Given the description of an element on the screen output the (x, y) to click on. 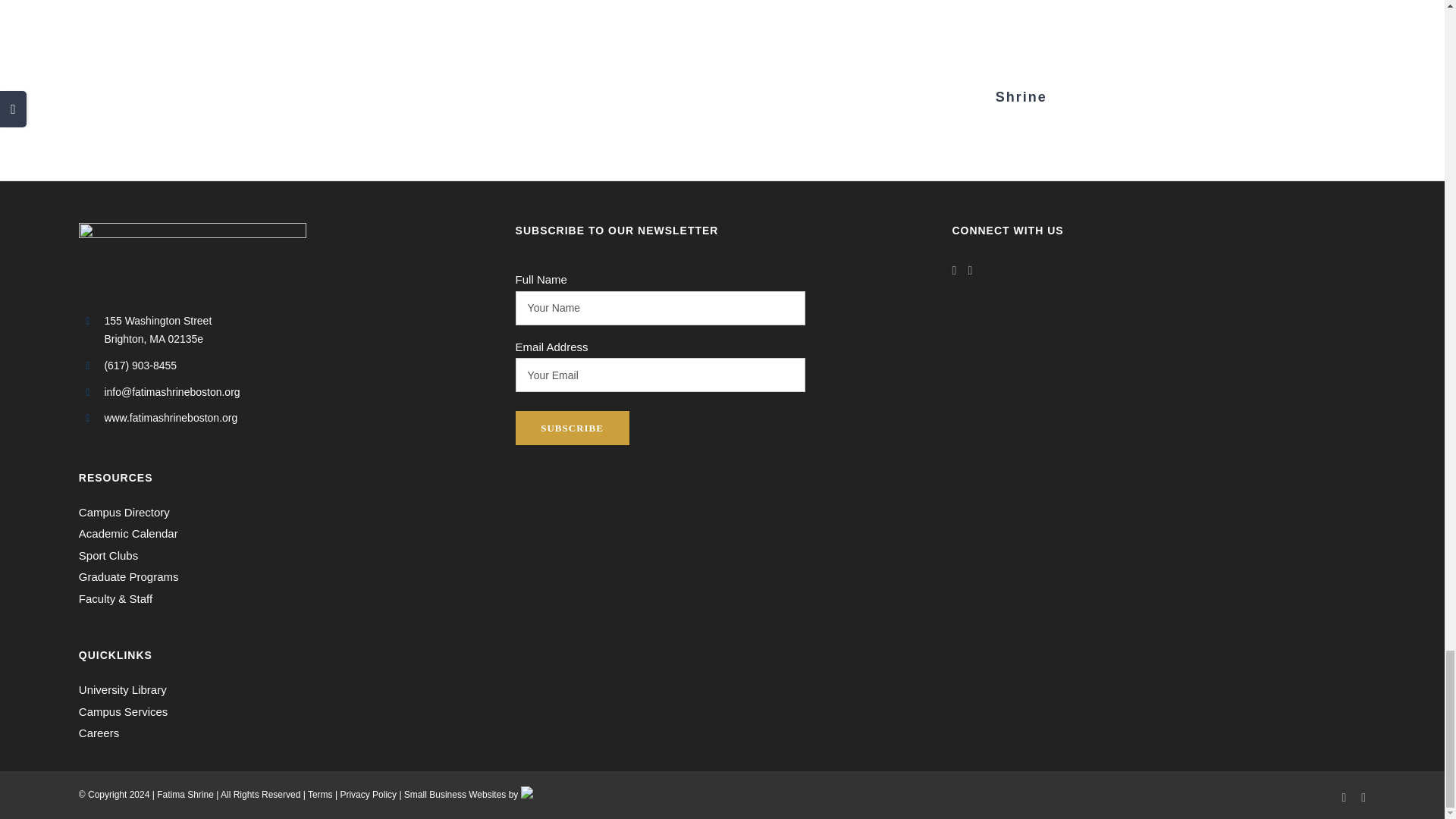
Subscribe (571, 428)
